Given the description of an element on the screen output the (x, y) to click on. 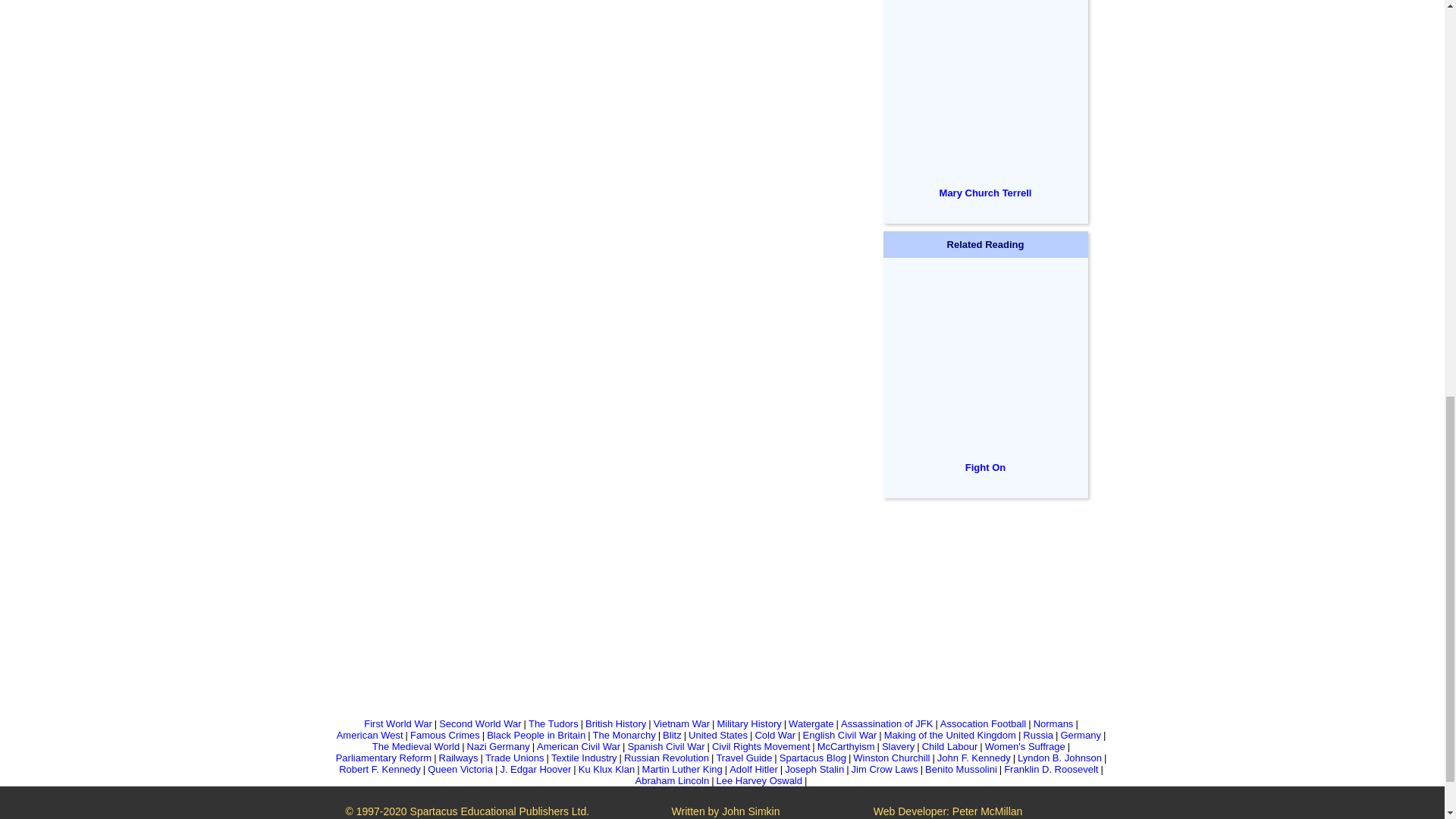
Mary Church Terrell (985, 193)
Fight On (985, 467)
Second World War (480, 723)
The Tudors (553, 723)
First World War (398, 723)
British History (615, 723)
